Given the description of an element on the screen output the (x, y) to click on. 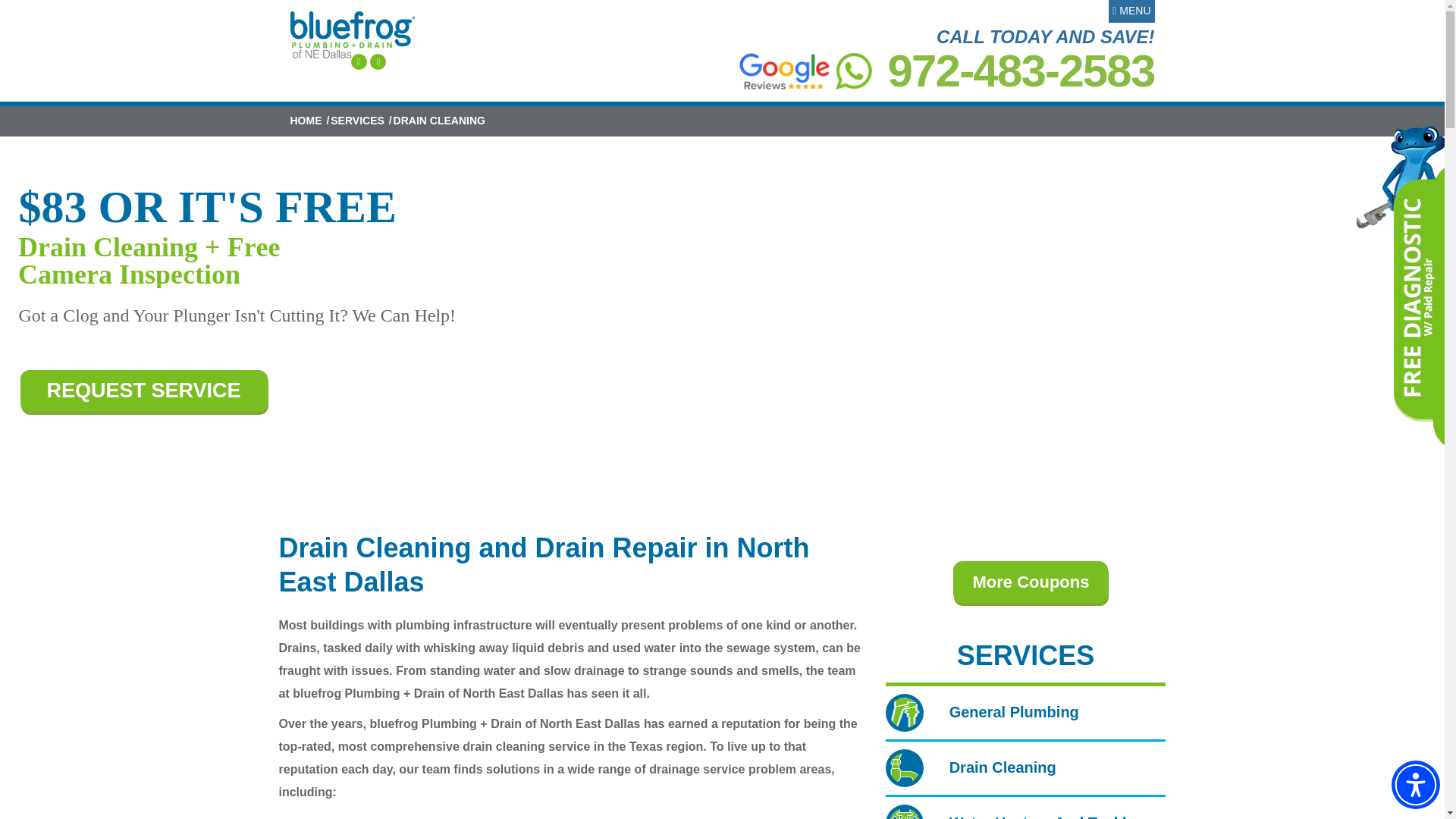
Accessibility Menu (1415, 784)
More Coupons (1030, 581)
SERVICES (357, 120)
Drain Cleaning (971, 766)
REQUEST SERVICE (143, 390)
General Plumbing (981, 711)
Water Heaters And Tankless (1018, 817)
HOME (305, 120)
